Given the description of an element on the screen output the (x, y) to click on. 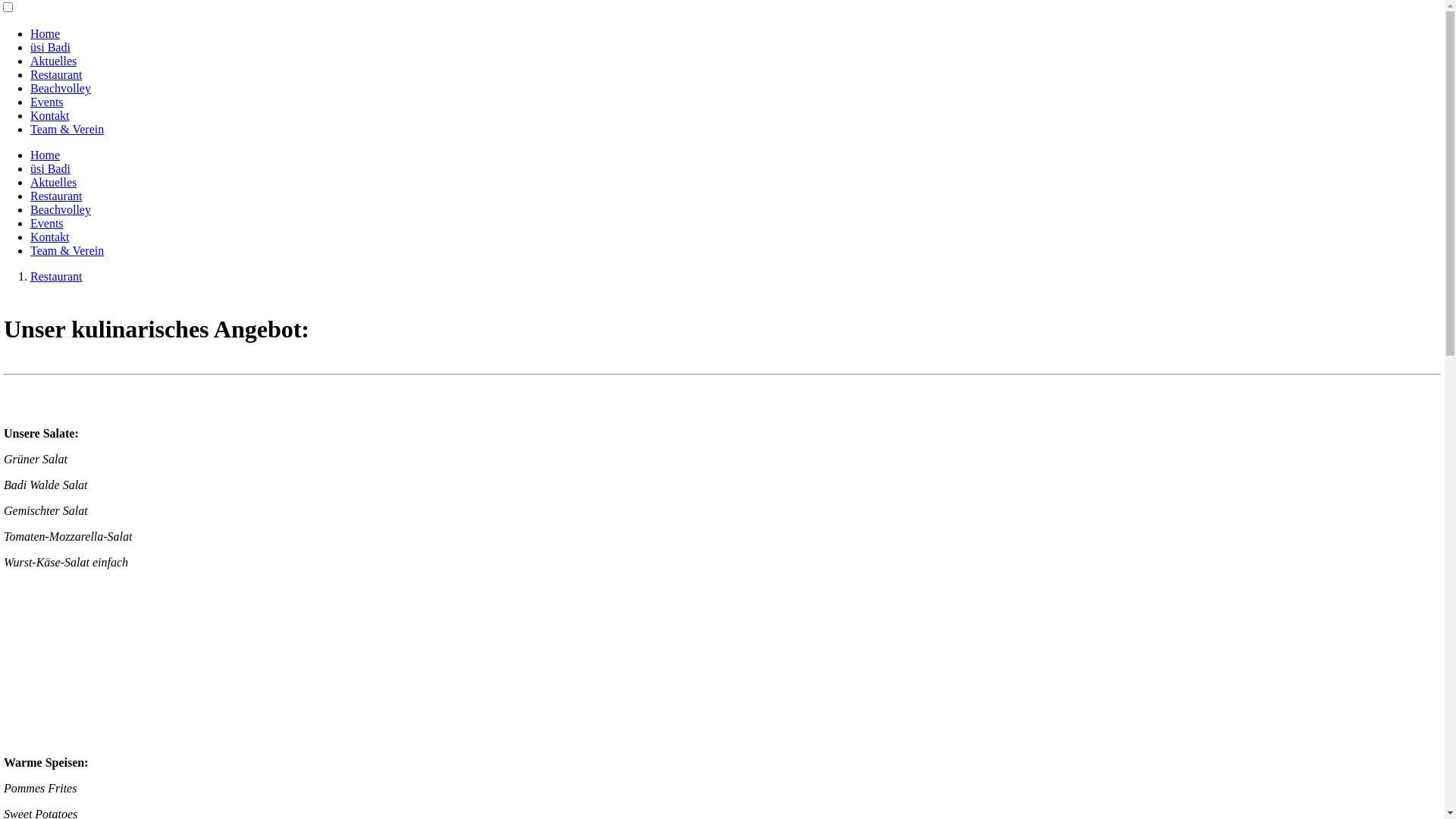
Home Element type: text (44, 33)
Home Element type: text (44, 154)
Beachvolley Element type: text (60, 209)
Kontakt Element type: text (49, 236)
Restaurant Element type: text (55, 275)
Restaurant Element type: text (55, 74)
Restaurant Element type: text (55, 195)
Aktuelles Element type: text (53, 181)
Team & Verein Element type: text (66, 128)
Kontakt Element type: text (49, 115)
Events Element type: text (46, 222)
Aktuelles Element type: text (53, 60)
Beachvolley Element type: text (60, 87)
Events Element type: text (46, 101)
Team & Verein Element type: text (66, 250)
